Given the description of an element on the screen output the (x, y) to click on. 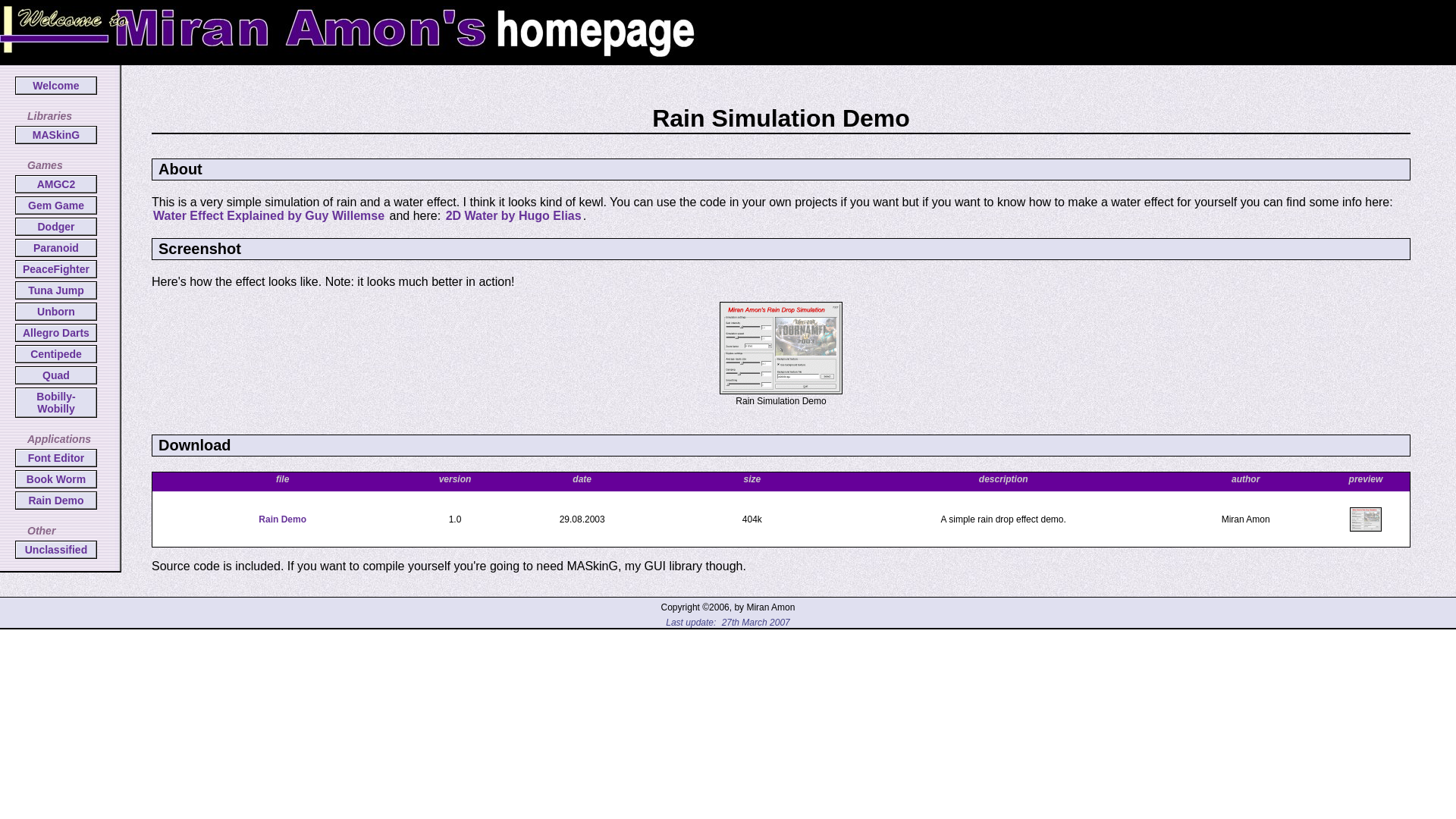
PeaceFighter Element type: text (55, 268)
Dodger Element type: text (55, 226)
Font Editor Element type: text (55, 457)
Rain Demo Element type: text (55, 500)
  Element type: text (718, 622)
Water Effect Explained by Guy Willemse Element type: text (268, 215)
2D Water by Hugo Elias Element type: text (513, 215)
Unborn Element type: text (55, 311)
Centipede Element type: text (55, 353)
Gem Game Element type: text (55, 205)
Allegro Darts Element type: text (55, 332)
Book Worm Element type: text (55, 478)
Rain Demo Element type: text (282, 519)
AMGC2 Element type: text (55, 183)
Quad Element type: text (55, 375)
Bobilly-Wobilly Element type: text (55, 402)
Welcome Element type: text (55, 85)
MASkinG Element type: text (55, 134)
Tuna Jump Element type: text (55, 290)
Paranoid Element type: text (55, 247)
Unclassified Element type: text (55, 549)
